Given the description of an element on the screen output the (x, y) to click on. 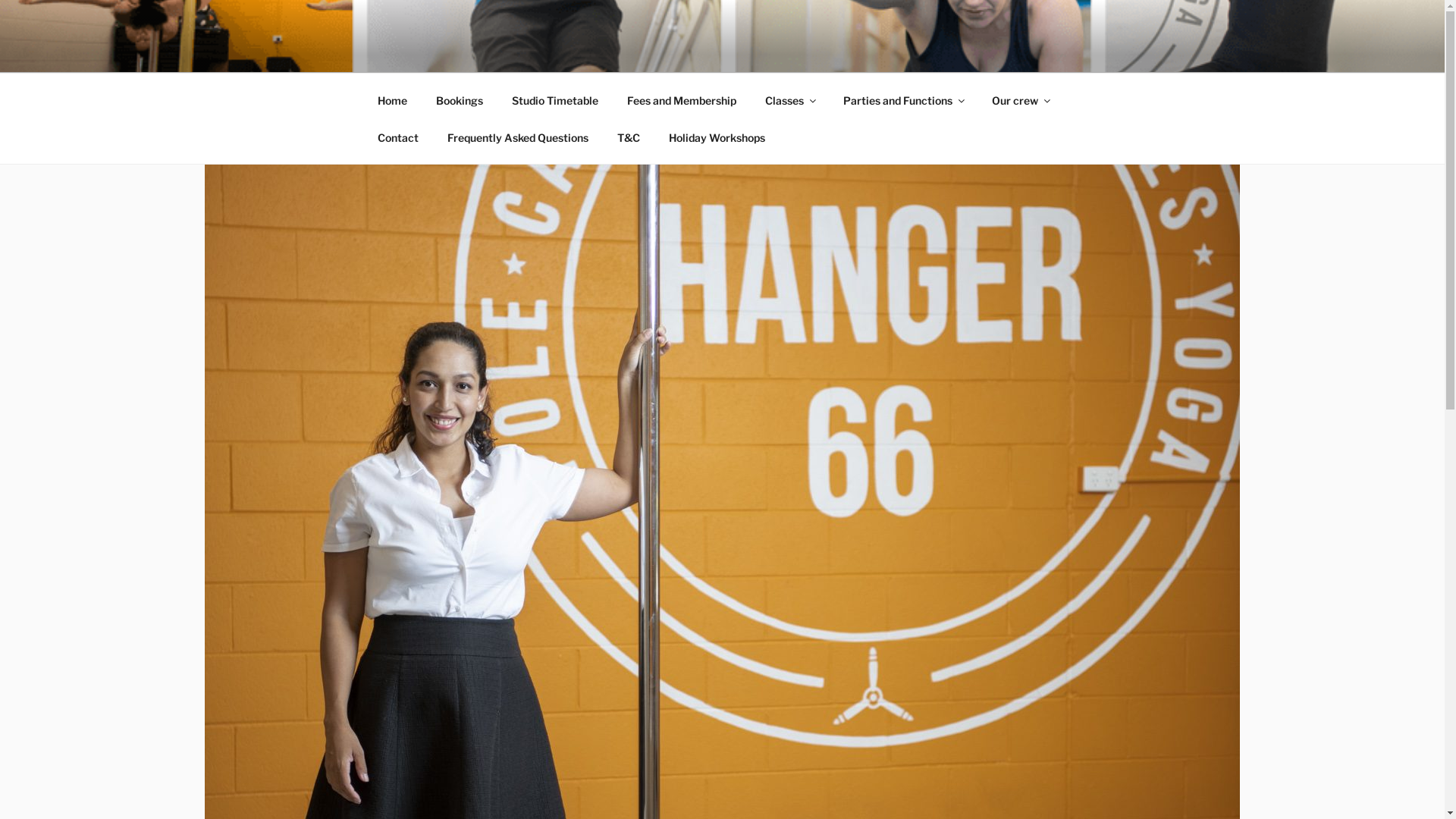
Fees and Membership Element type: text (681, 100)
Studio Timetable Element type: text (554, 100)
Contact Element type: text (397, 136)
T&C Element type: text (627, 136)
Holiday Workshops Element type: text (716, 136)
Frequently Asked Questions Element type: text (517, 136)
Parties and Functions Element type: text (902, 100)
Bookings Element type: text (459, 100)
Home Element type: text (392, 100)
HANGER 66 Element type: text (470, 52)
Classes Element type: text (790, 100)
Our crew Element type: text (1019, 100)
